Given the description of an element on the screen output the (x, y) to click on. 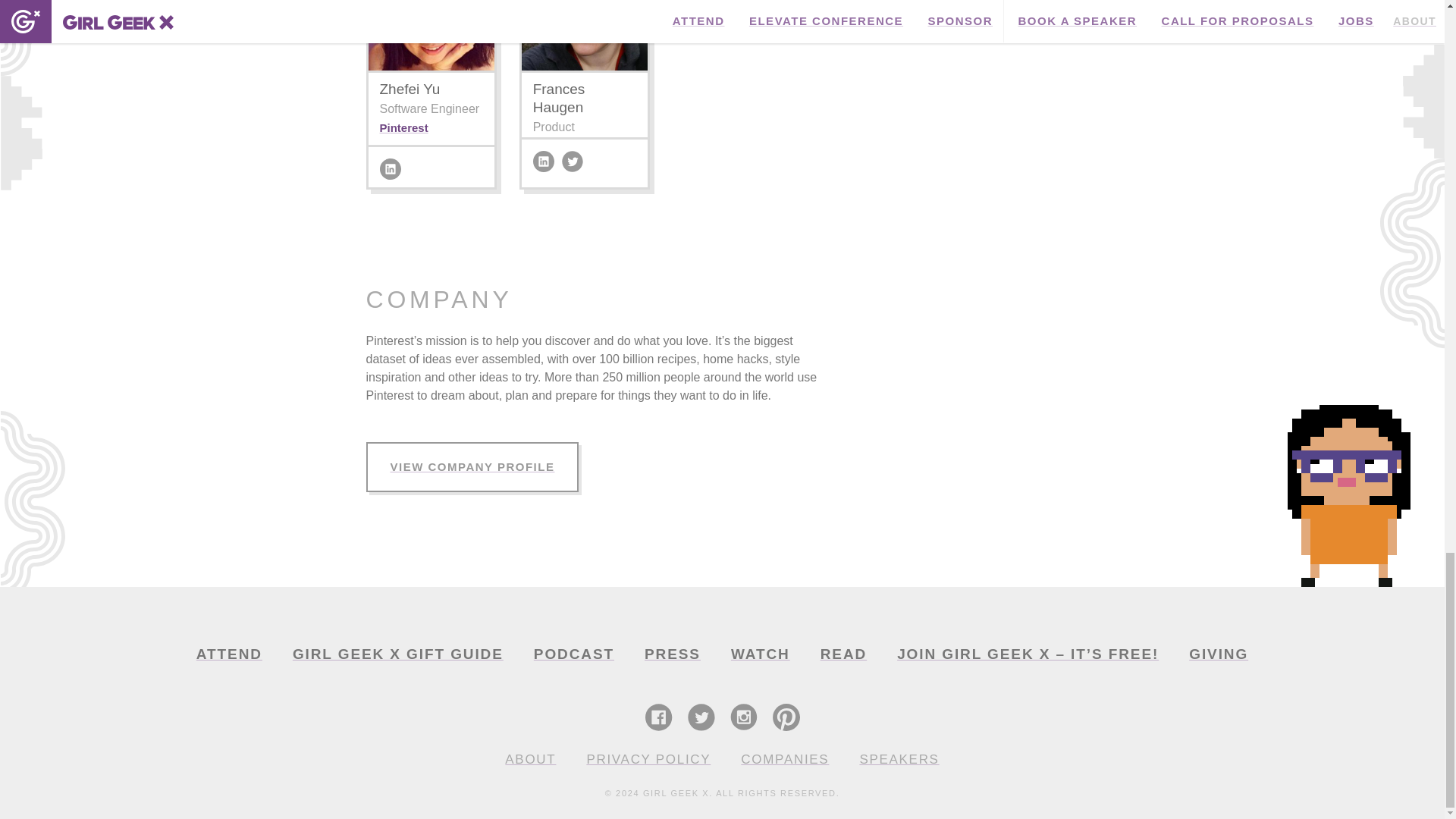
ATTEND (229, 653)
PRESS (672, 653)
PODCAST (573, 653)
VIEW COMPANY PROFILE (471, 467)
Pinterest (403, 127)
WATCH (760, 653)
GIRL GEEK X GIFT GUIDE (398, 653)
